Given the description of an element on the screen output the (x, y) to click on. 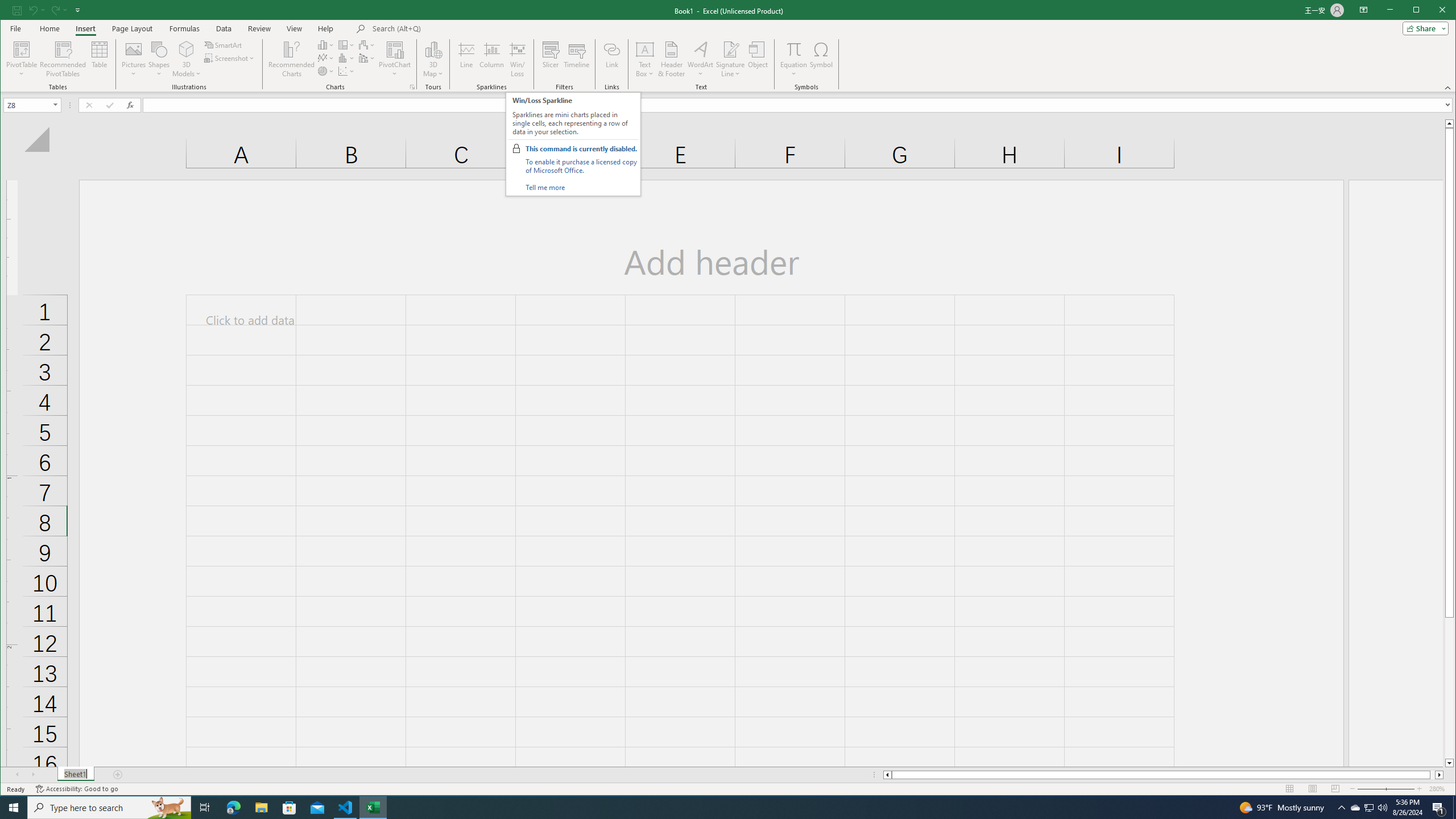
Recommended PivotTables (63, 59)
PivotChart (394, 59)
